Given the description of an element on the screen output the (x, y) to click on. 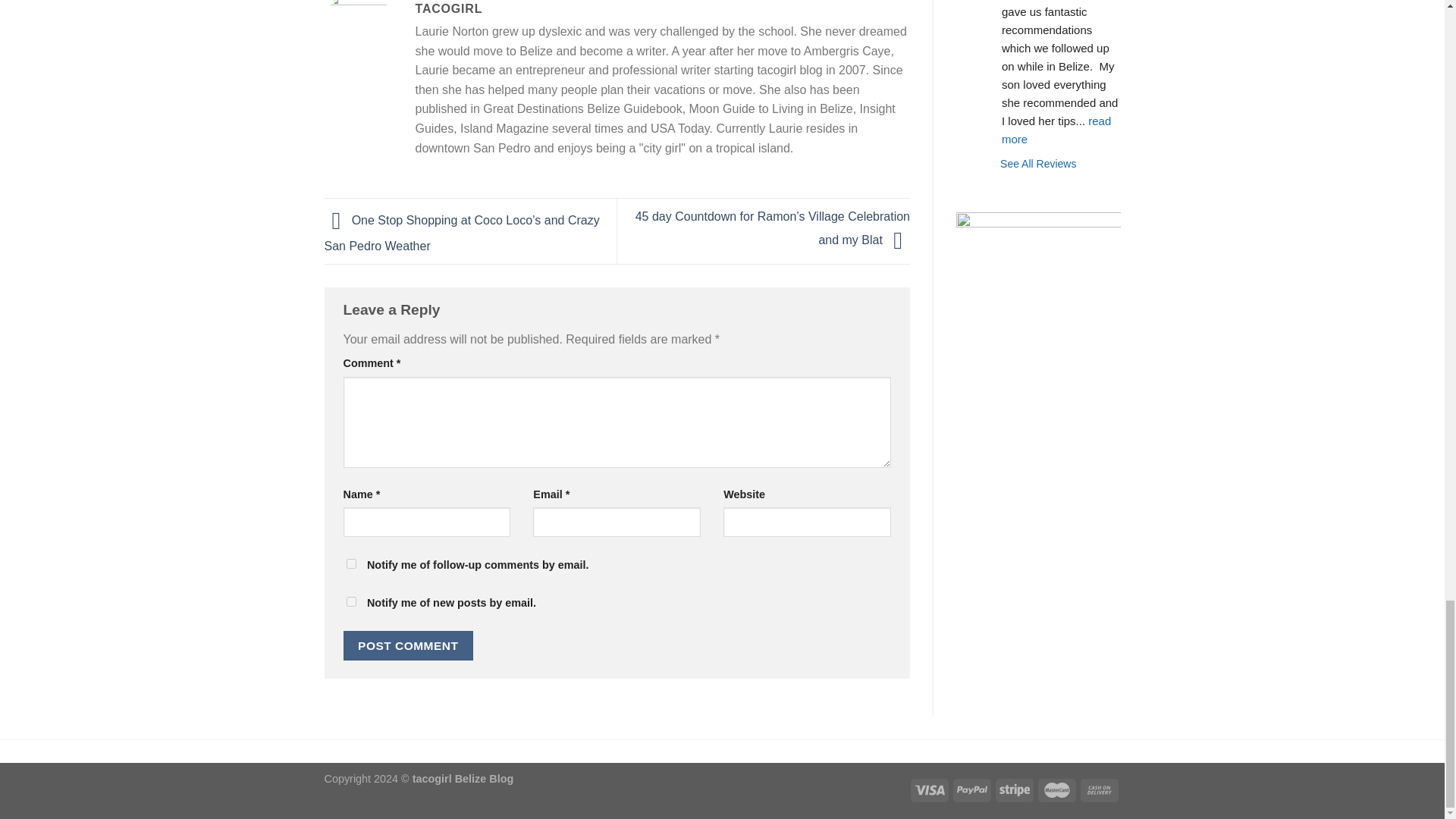
subscribe (350, 563)
subscribe (350, 601)
Post Comment (407, 645)
